Given the description of an element on the screen output the (x, y) to click on. 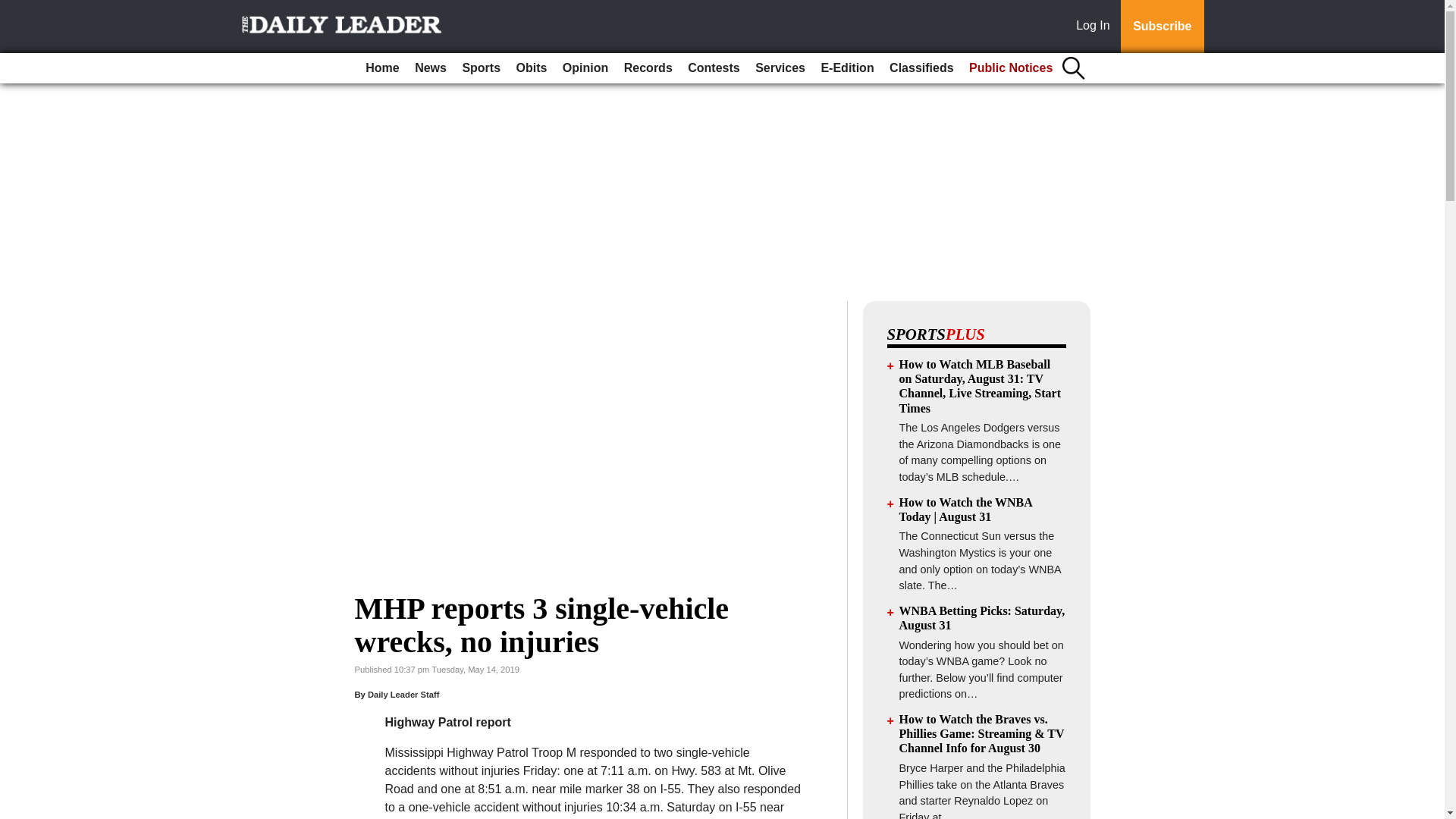
Daily Leader Staff (403, 694)
Subscribe (1162, 26)
WNBA Betting Picks: Saturday, August 31 (982, 617)
Records (647, 68)
Log In (1095, 26)
Services (779, 68)
Public Notices (1010, 68)
Classifieds (921, 68)
Contests (713, 68)
